Given the description of an element on the screen output the (x, y) to click on. 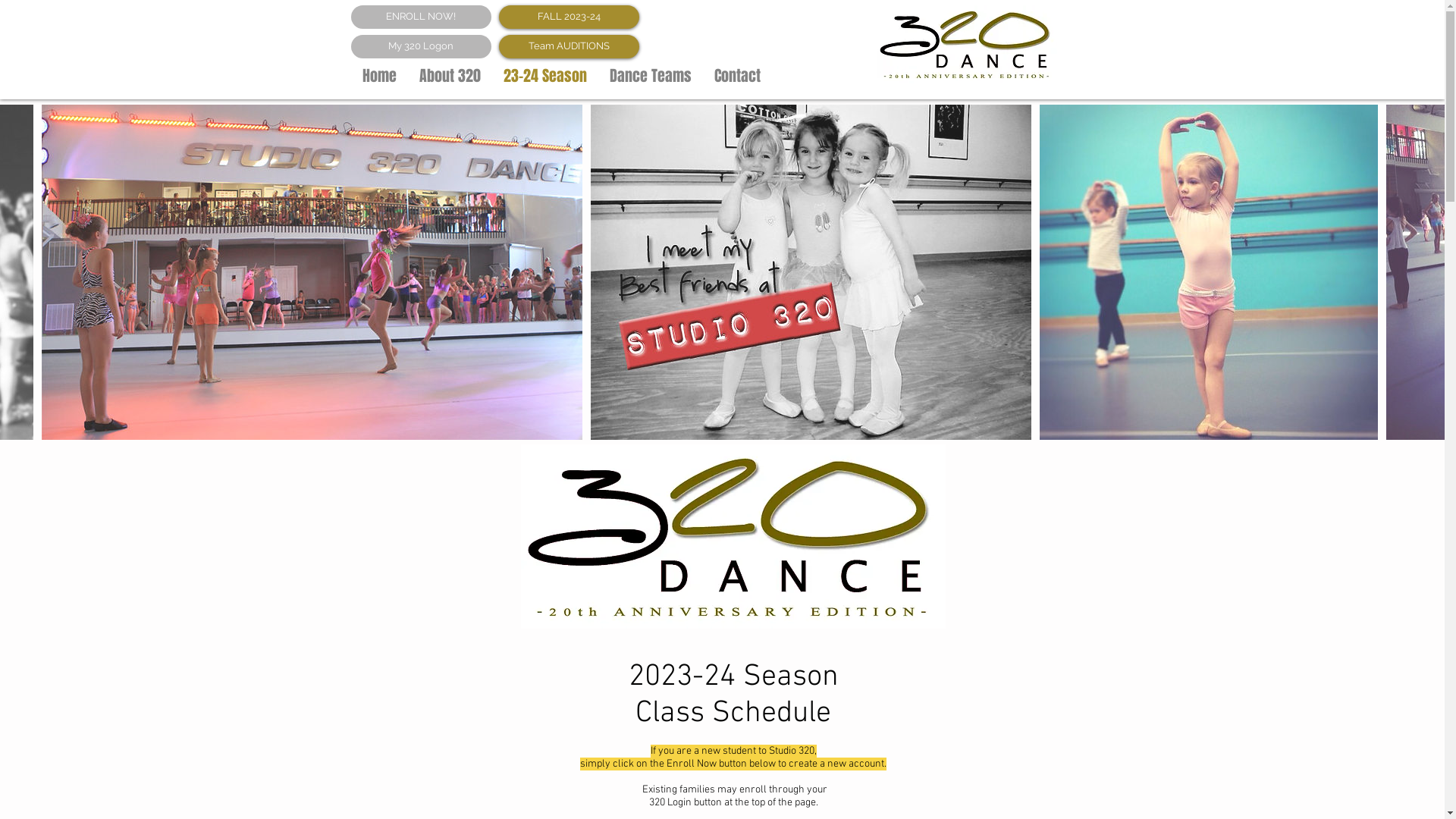
Dance Teams Element type: text (649, 74)
Home Element type: text (378, 74)
FALL 2023-24 Element type: text (568, 16)
About 320 Element type: text (449, 74)
ENROLL NOW! Element type: text (420, 16)
Contact Element type: text (736, 74)
Team AUDITIONS Element type: text (568, 46)
My 320 Logon Element type: text (420, 46)
23-24 Season Element type: text (544, 74)
